Given the description of an element on the screen output the (x, y) to click on. 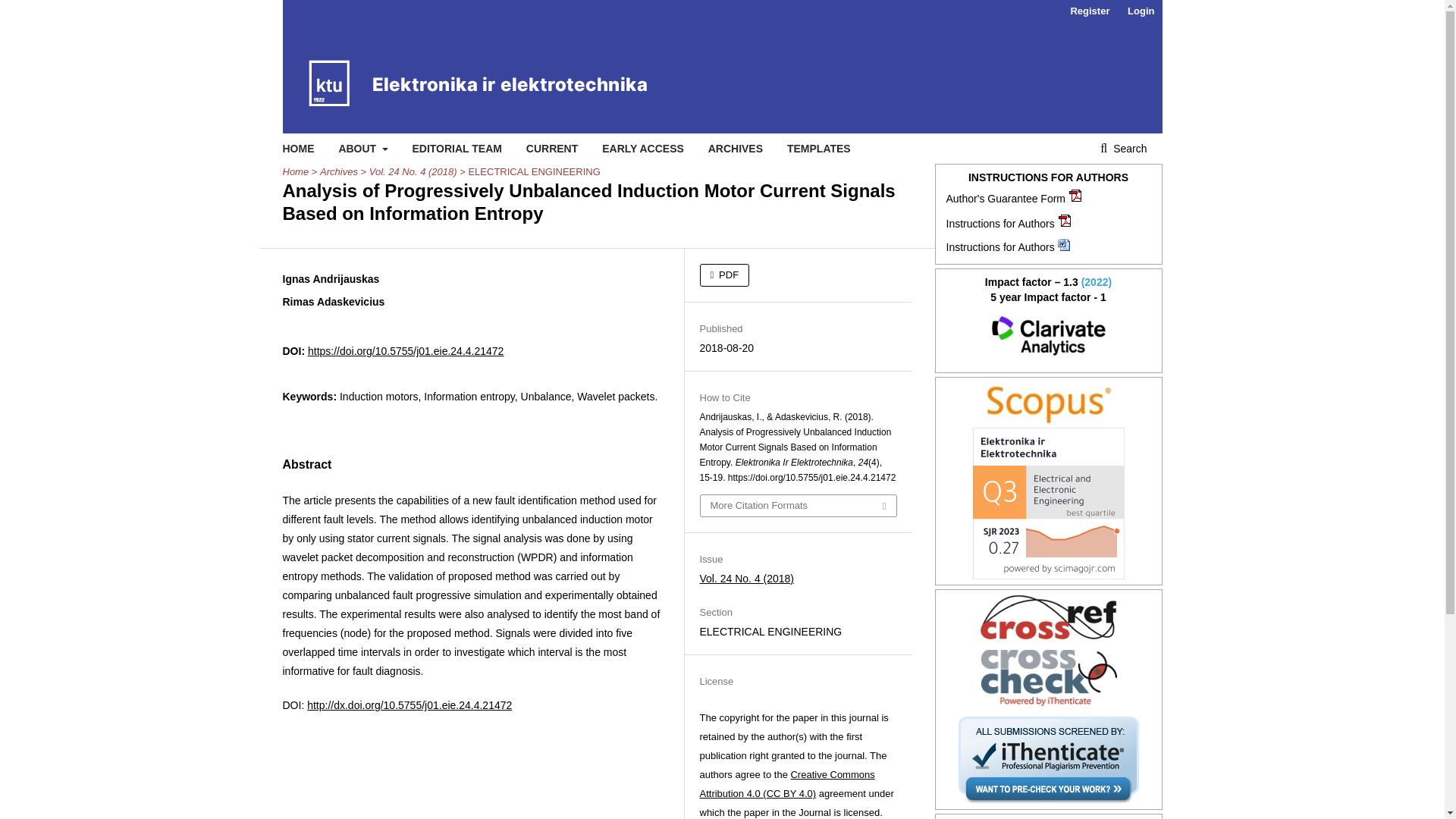
Journal: Elektronika Ir Elektrotechnika (1048, 335)
PDF (723, 274)
Register (1089, 11)
Home (295, 171)
Archives (339, 171)
EARLY ACCESS (643, 148)
EDITORIAL TEAM (457, 148)
CURRENT (551, 148)
Search (1122, 148)
HOME (298, 148)
Login (1140, 11)
More Citation Formats (798, 505)
Journal: Elektronika Ir Elektrotechnika (1048, 405)
ARCHIVES (734, 148)
TEMPLATES (818, 148)
